Given the description of an element on the screen output the (x, y) to click on. 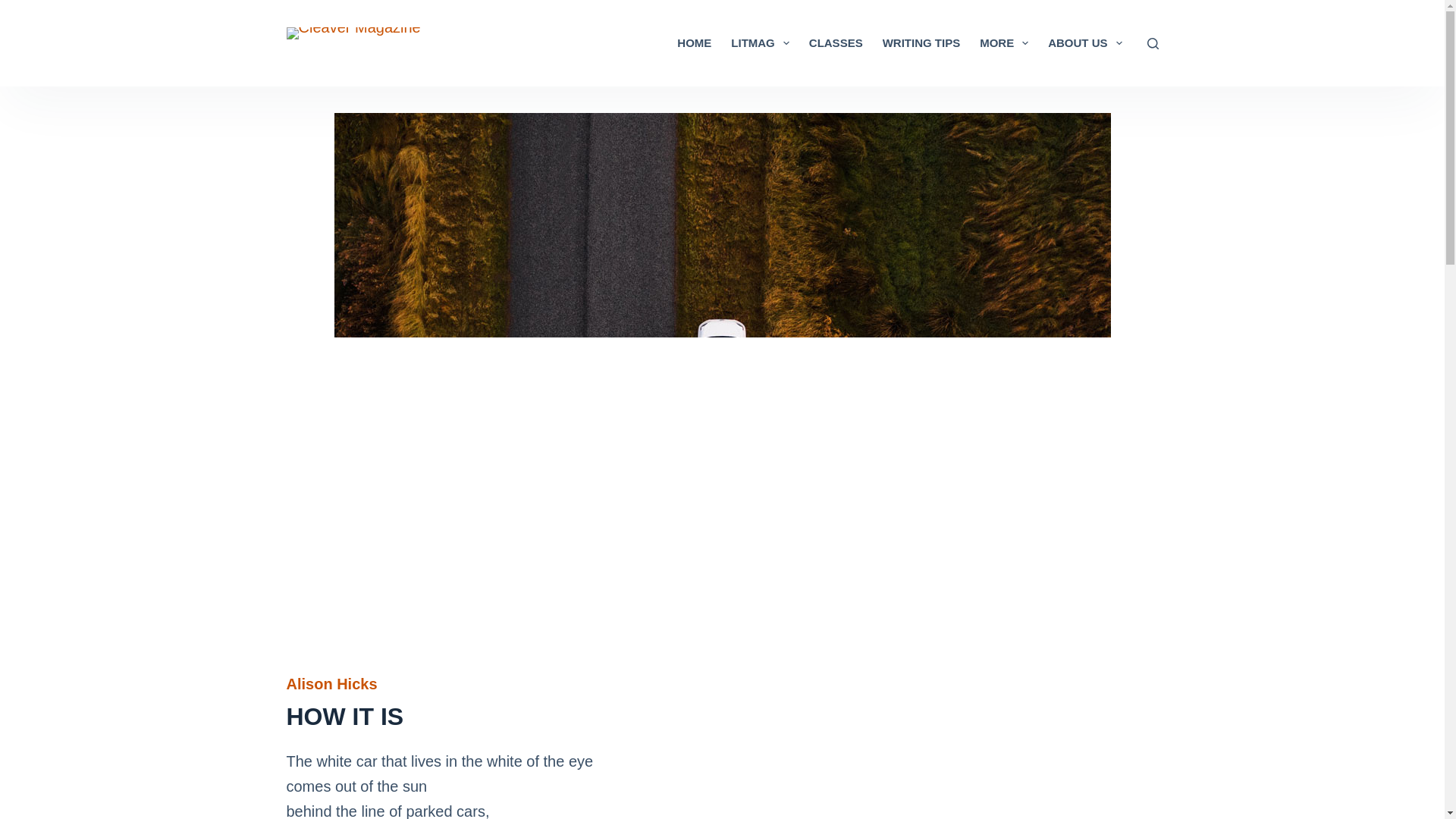
Skip to content (15, 7)
